Given the description of an element on the screen output the (x, y) to click on. 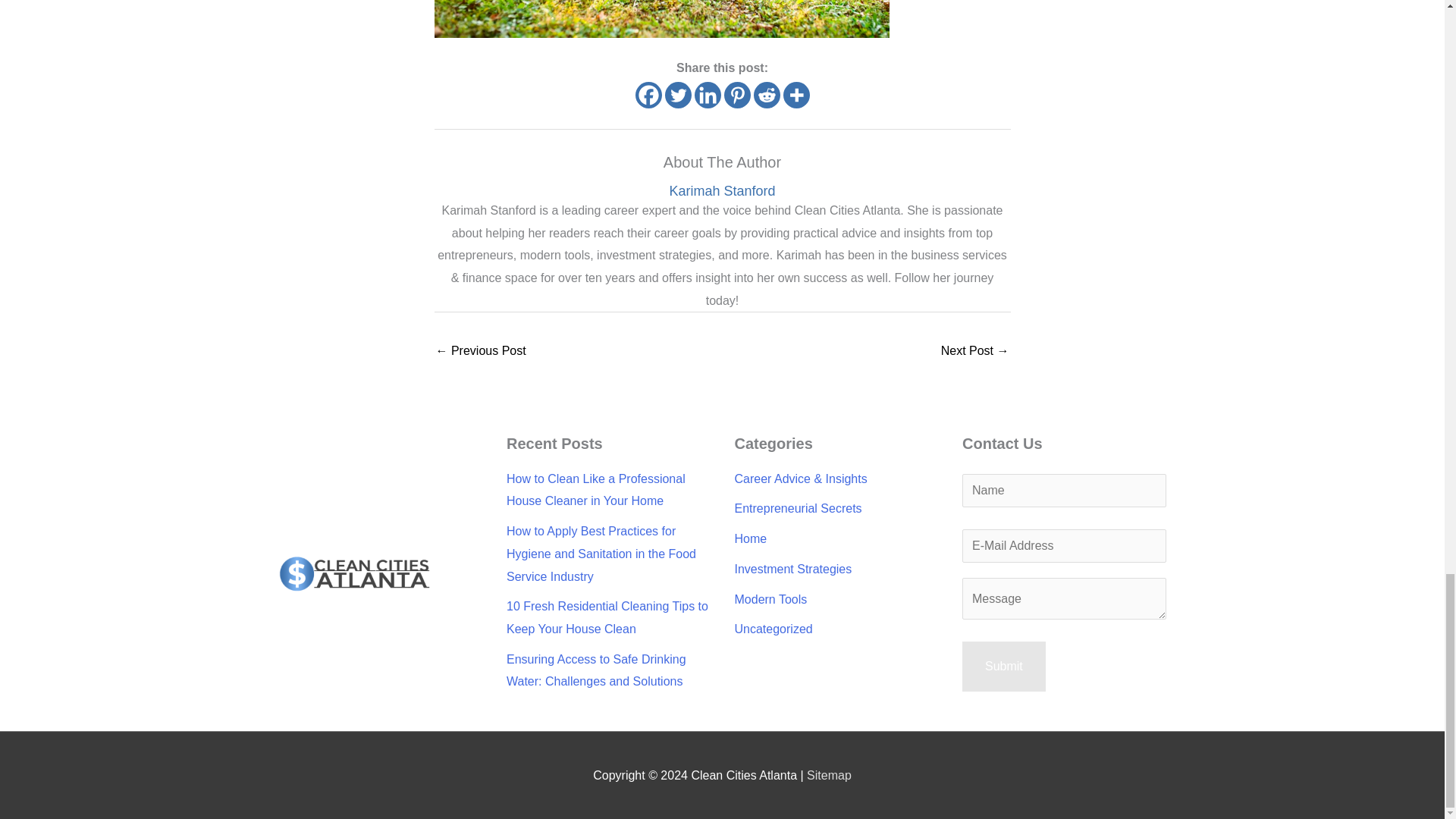
Submit (1003, 666)
Sitemap (828, 775)
Submit (1003, 666)
Caring for the Earth  Asbestos Soil Remediation (974, 352)
Home (750, 538)
Modern Tools (769, 599)
Entrepreneurial Secrets (797, 508)
